Given the description of an element on the screen output the (x, y) to click on. 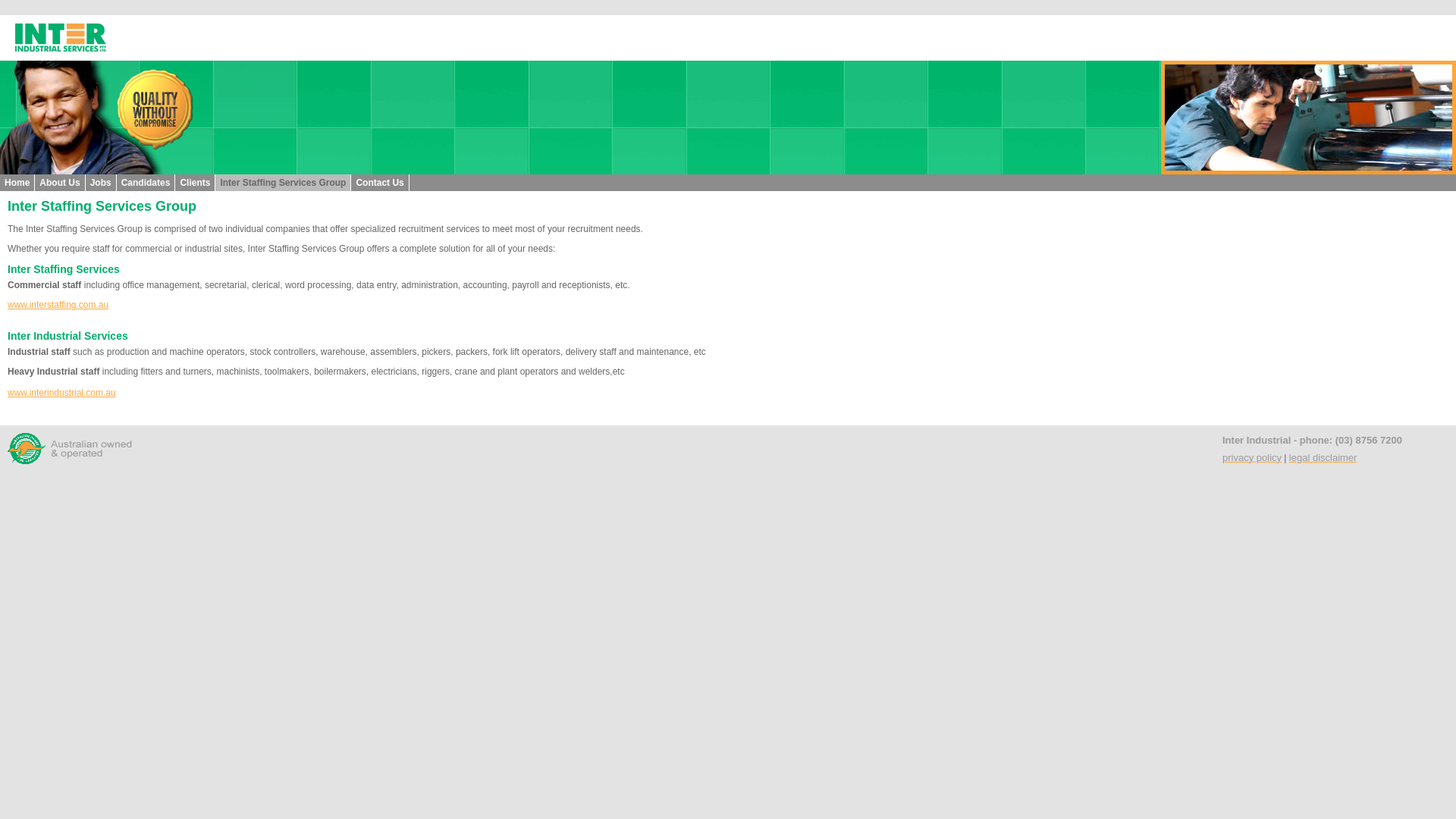
Inter Staffing Services Group Element type: text (282, 182)
About Us Element type: text (59, 182)
Candidates Element type: text (145, 182)
Contact Us Element type: text (379, 182)
Jobs Element type: text (100, 182)
Home Element type: text (17, 182)
Clients Element type: text (194, 182)
legal disclaimer Element type: text (1323, 456)
www.interstaffing.com.au Element type: text (57, 304)
privacy policy Element type: text (1251, 456)
www.interindustrial.com.au Element type: text (61, 392)
